Given the description of an element on the screen output the (x, y) to click on. 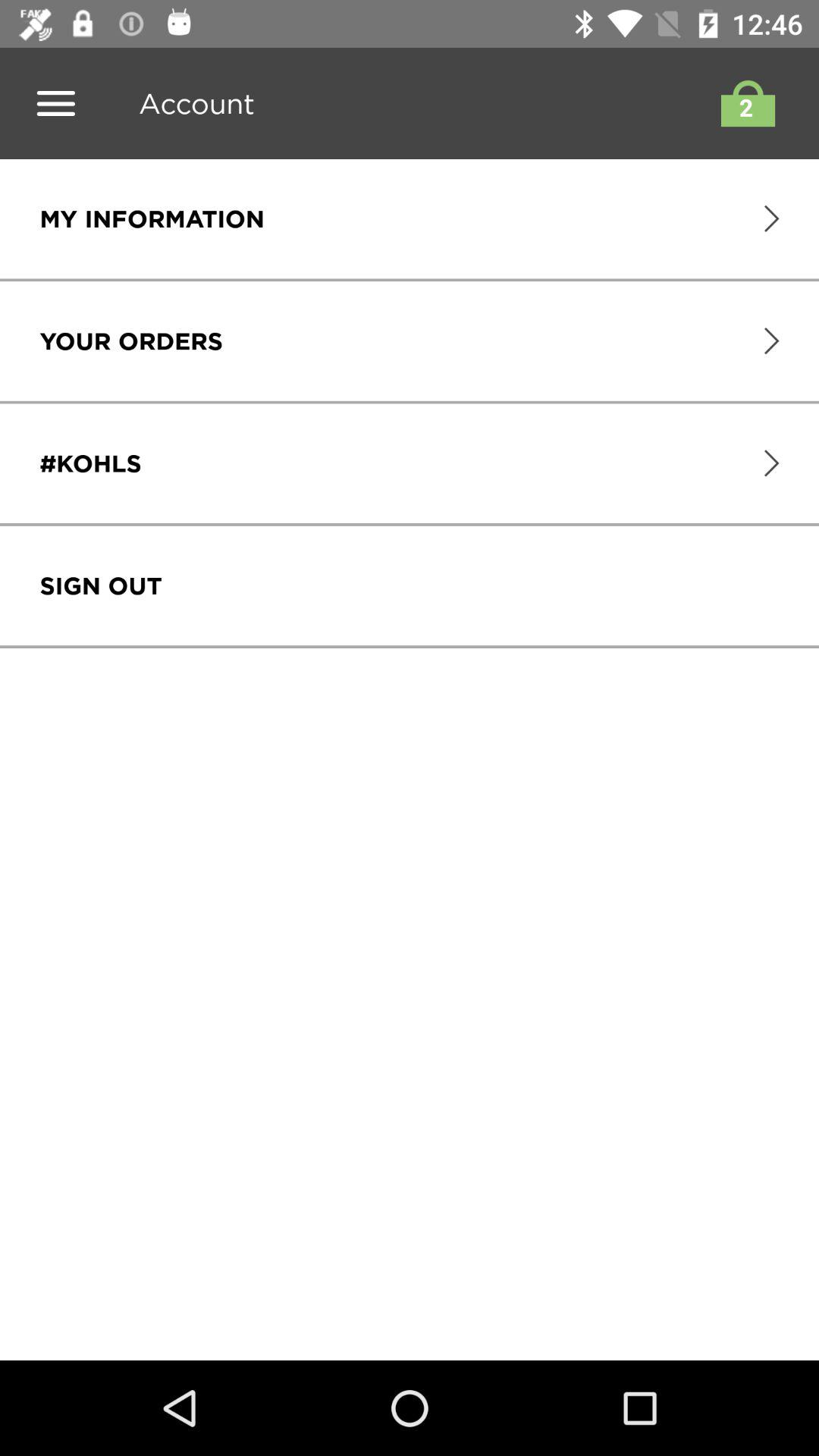
launch the item above my information icon (190, 103)
